Given the description of an element on the screen output the (x, y) to click on. 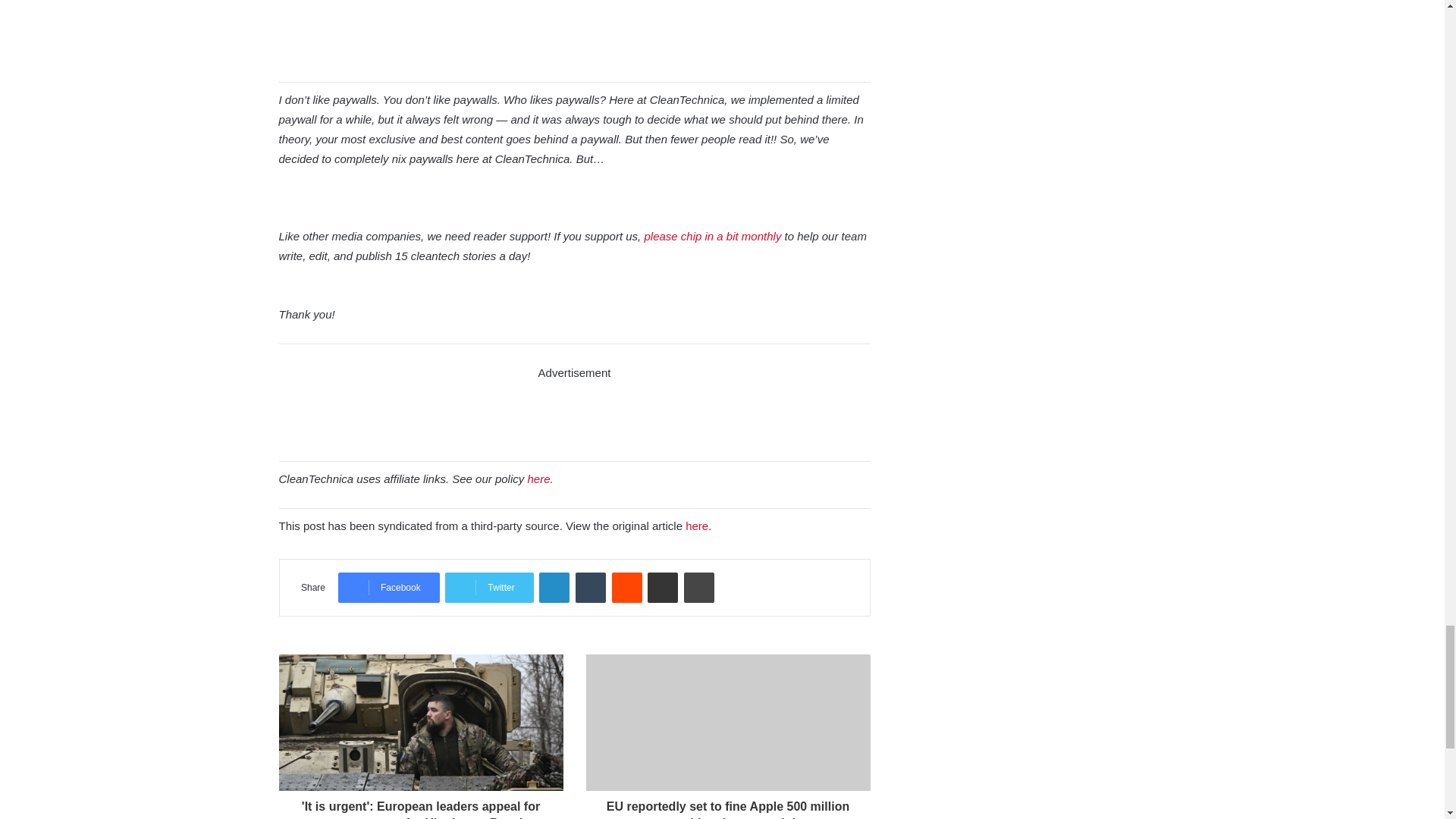
here (696, 525)
please chip in a bit monthly (711, 236)
here (538, 478)
YouTube video player (574, 31)
